Given the description of an element on the screen output the (x, y) to click on. 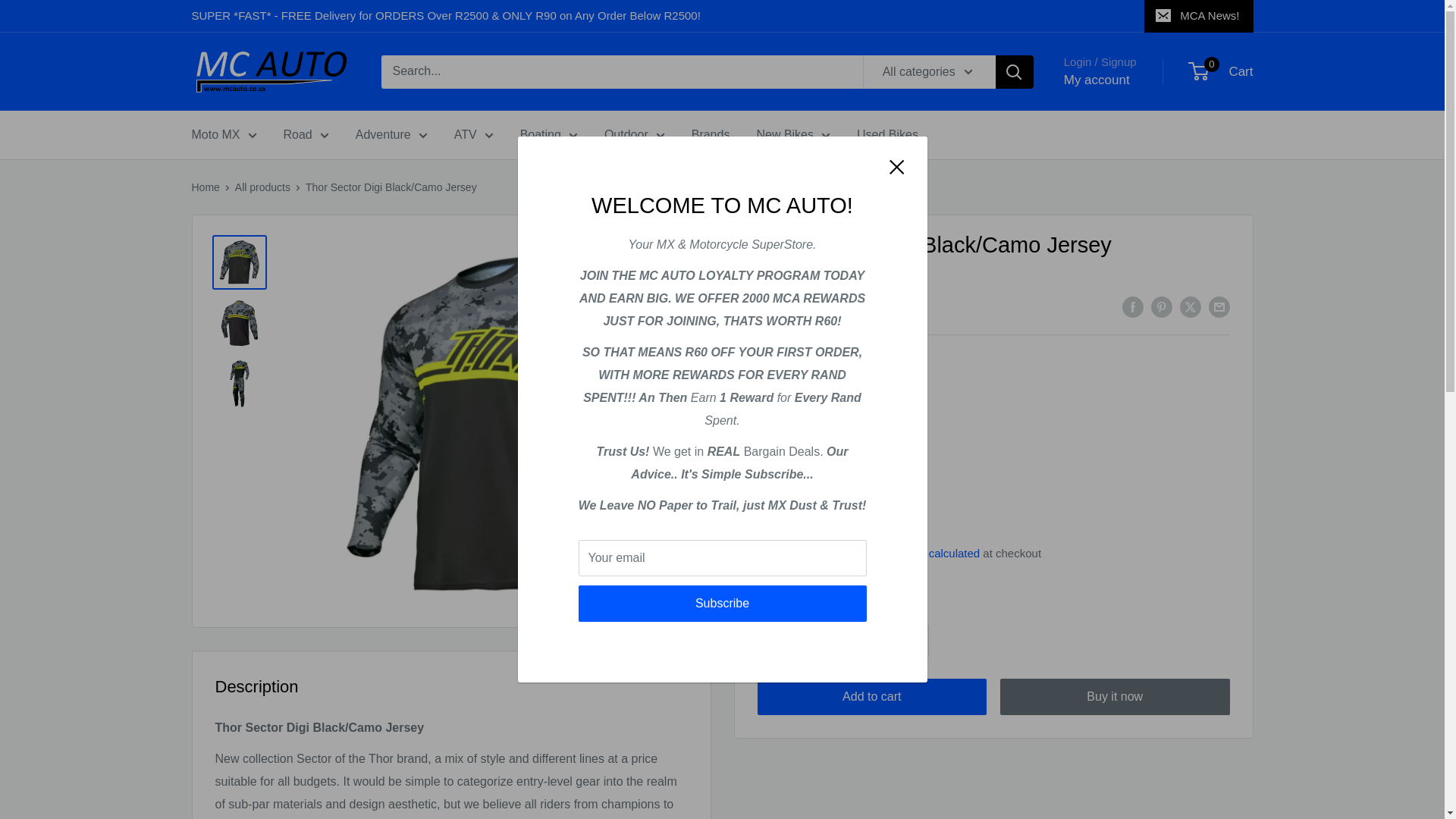
Grey (773, 479)
MCA News! (1198, 15)
Decrease quantity by 1 (831, 640)
1 (871, 640)
Increase quantity by 1 (912, 640)
